Given the description of an element on the screen output the (x, y) to click on. 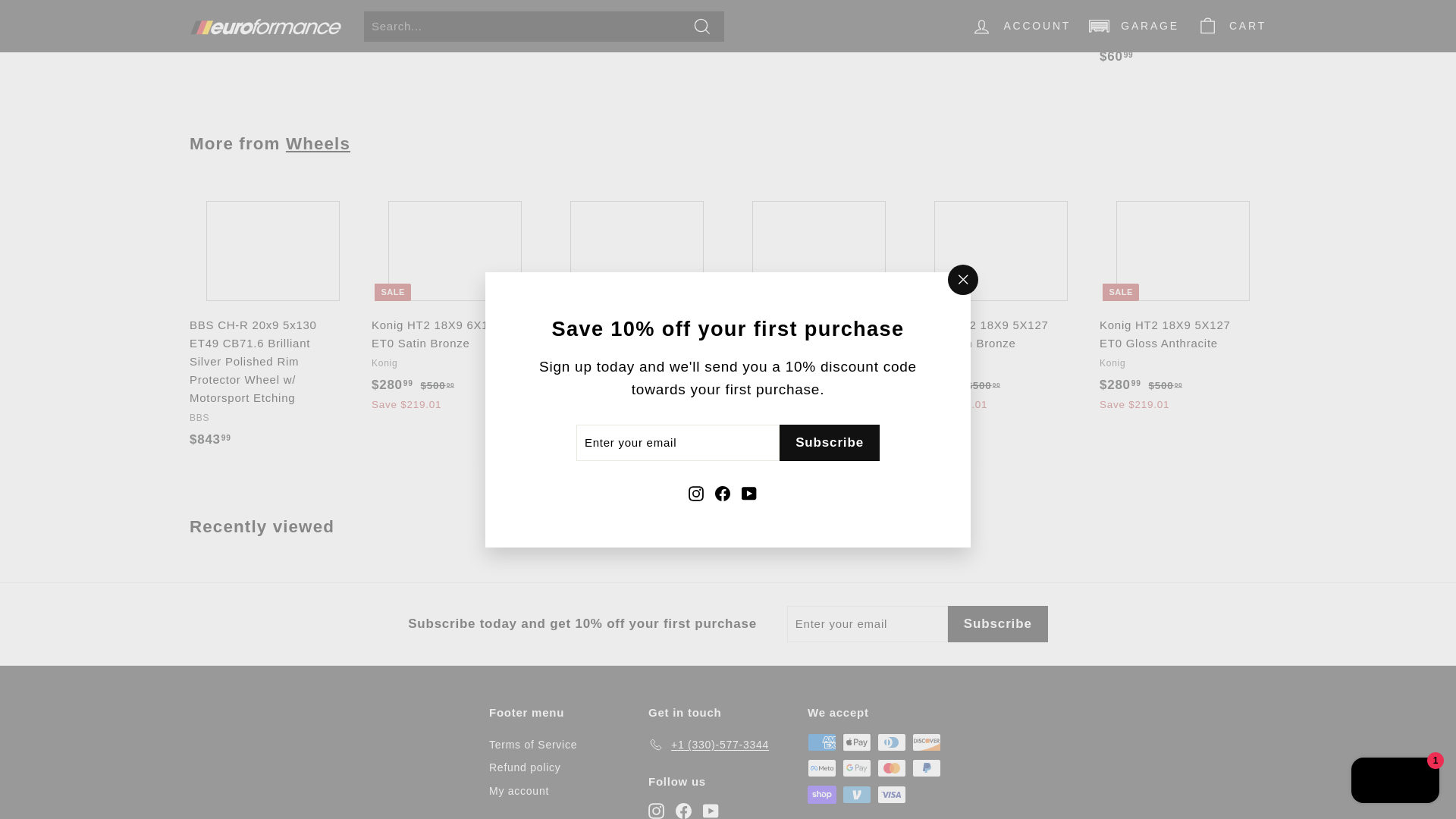
Mastercard (891, 768)
PayPal (926, 768)
Apple Pay (856, 742)
Google Pay (856, 768)
Meta Pay (821, 768)
Diners Club (891, 742)
Venmo (856, 794)
American Express (821, 742)
Discover (926, 742)
Shop Pay (821, 794)
